Given the description of an element on the screen output the (x, y) to click on. 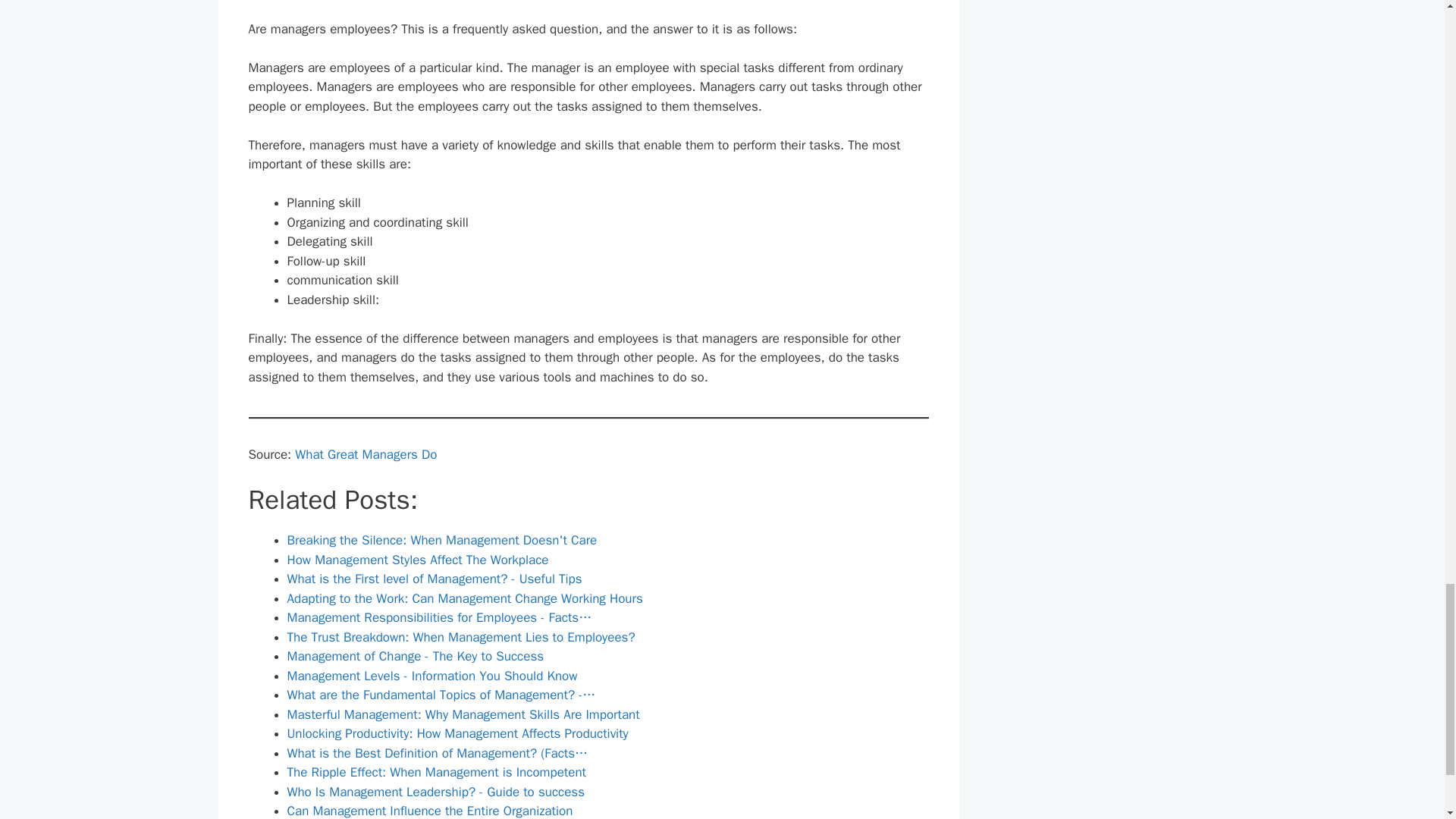
Masterful Management: Why Management Skills Are Important (462, 714)
Adapting to the Work: Can Management Change Working Hours (464, 598)
Unlocking Productivity: How Management Affects Productivity (456, 733)
Breaking the Silence: When Management Doesn't Care (441, 539)
What is the First level of Management? - Useful Tips (433, 578)
Can Management Influence the Entire Organization (429, 811)
Management of Change - The Key to Success (414, 656)
The Trust Breakdown: When Management Lies to Employees? (460, 637)
How Management Styles Affect The Workplace (417, 560)
The Ripple Effect: When Management is Incompetent (436, 772)
What Great Managers Do (365, 454)
Management Levels - Information You Should Know (431, 675)
Who Is Management Leadership? - Guide to success (435, 791)
